Given the description of an element on the screen output the (x, y) to click on. 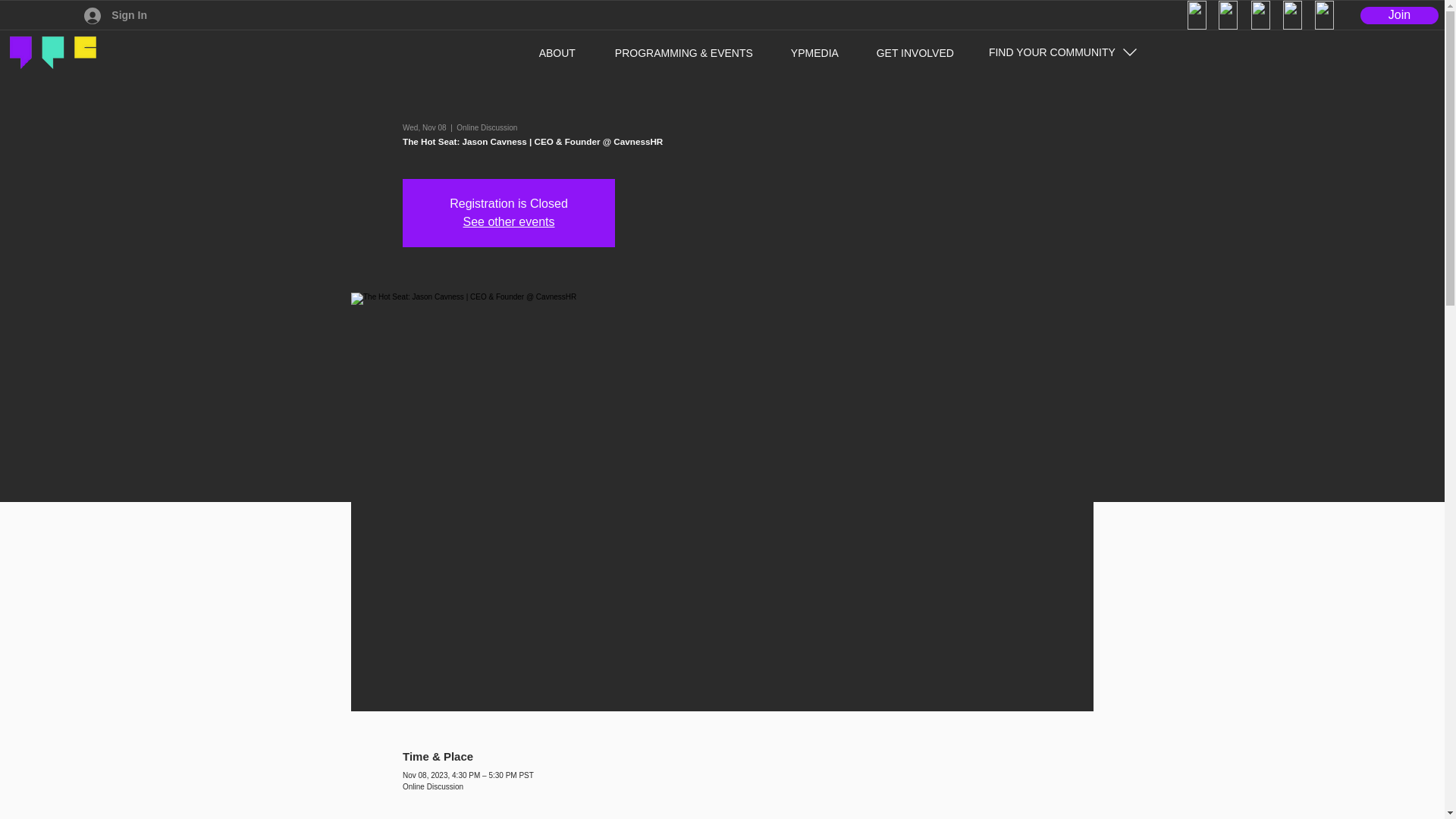
See other events (508, 221)
Have an account? (58, 15)
FIND YOUR COMMUNITY (1063, 52)
Sign In (115, 15)
Join (1398, 15)
